Given the description of an element on the screen output the (x, y) to click on. 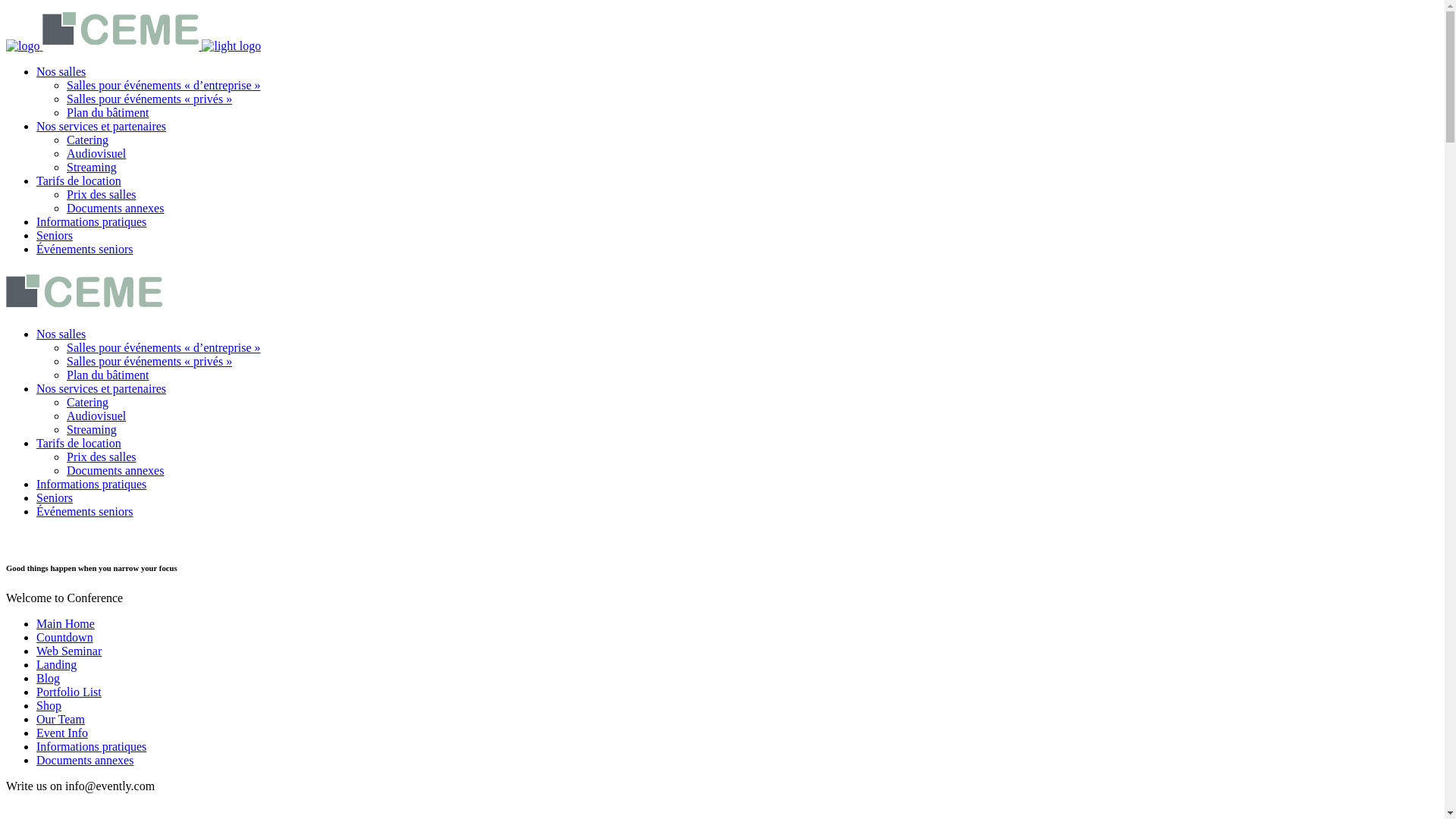
Event Info Element type: text (61, 732)
Seniors Element type: text (54, 235)
Documents annexes Element type: text (114, 207)
Prix des salles Element type: text (101, 194)
Tarifs de location Element type: text (78, 180)
Web Seminar Element type: text (68, 650)
Countdown Element type: text (64, 636)
Audiovisuel Element type: text (95, 415)
Seniors Element type: text (54, 497)
Nos salles Element type: text (60, 333)
Nos services et partenaires Element type: text (101, 125)
Main Home Element type: text (65, 623)
Tarifs de location Element type: text (78, 442)
Streaming Element type: text (91, 166)
Audiovisuel Element type: text (95, 153)
Catering Element type: text (87, 139)
Our Team Element type: text (60, 718)
Informations pratiques Element type: text (91, 483)
Landing Element type: text (56, 664)
Portfolio List Element type: text (68, 691)
Blog Element type: text (47, 677)
Nos salles Element type: text (60, 71)
Documents annexes Element type: text (84, 759)
Informations pratiques Element type: text (91, 746)
Nos services et partenaires Element type: text (101, 388)
Catering Element type: text (87, 401)
Informations pratiques Element type: text (91, 221)
Documents annexes Element type: text (114, 470)
Streaming Element type: text (91, 429)
Prix des salles Element type: text (101, 456)
Shop Element type: text (48, 705)
